Given the description of an element on the screen output the (x, y) to click on. 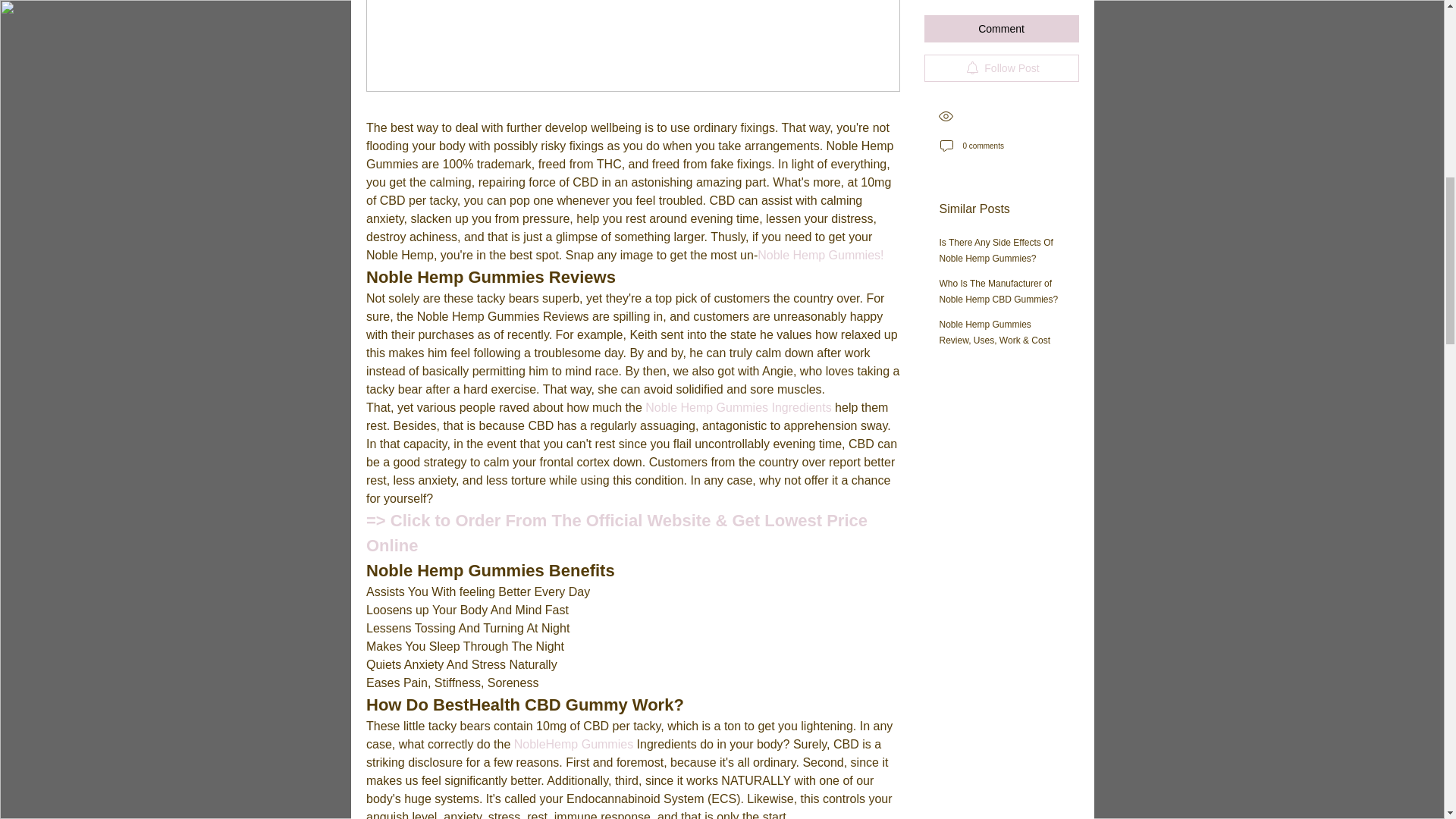
Noble Hemp Gummies Ingredients (738, 407)
 NobleHemp Gummies (572, 744)
Noble Hemp Gummies! (820, 254)
